Given the description of an element on the screen output the (x, y) to click on. 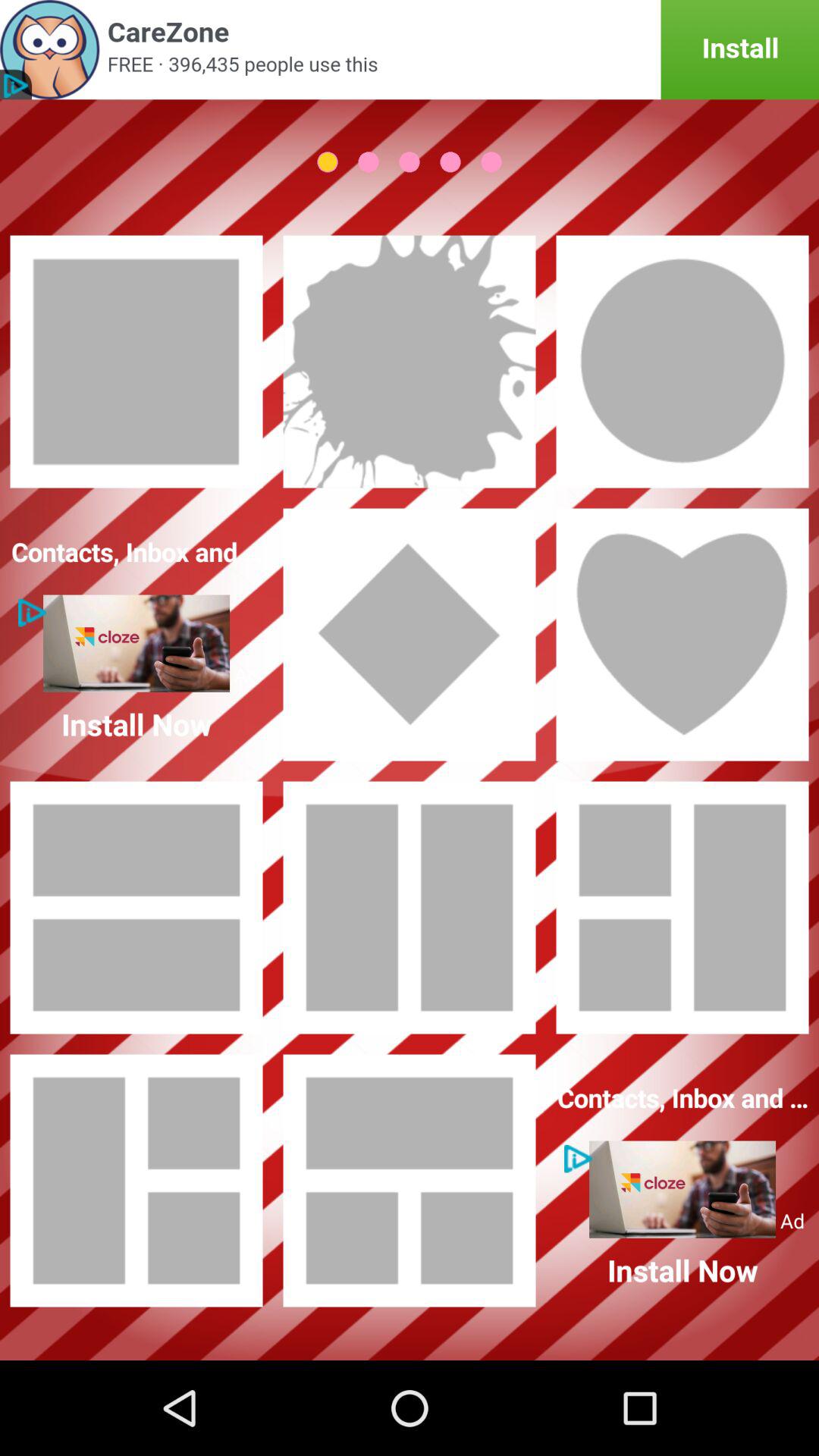
favorite button (682, 634)
